Given the description of an element on the screen output the (x, y) to click on. 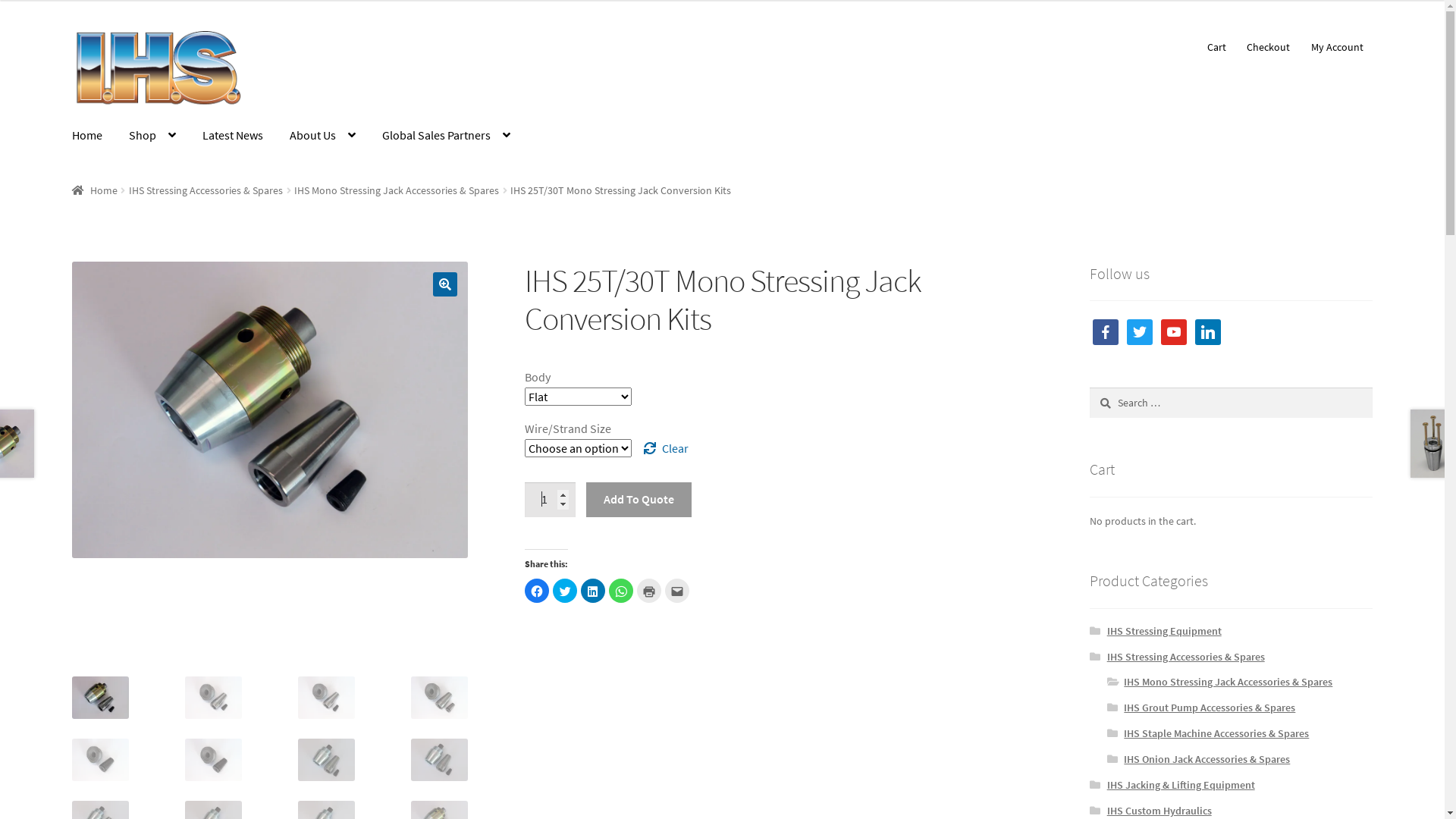
Click to print (Opens in new window) Element type: text (649, 590)
IHS Stressing Equipment Element type: text (1164, 630)
Click to email this to a friend (Opens in new window) Element type: text (677, 590)
My Account Element type: text (1336, 46)
Home Element type: text (94, 190)
Add To Quote Element type: text (638, 499)
Search Element type: text (1088, 386)
About Us Element type: text (322, 135)
IHS Onion Jack Accessories & Spares Element type: text (1206, 758)
Checkout Element type: text (1268, 46)
IHS Custom Hydraulics Element type: text (1159, 810)
Click to share on Facebook (Opens in new window) Element type: text (536, 590)
Clear Element type: text (666, 448)
Click to share on Twitter (Opens in new window) Element type: text (564, 590)
IHS Mono Stressing Jack Accessories & Spares Element type: text (1227, 681)
Qty Element type: hover (550, 499)
Cart Element type: text (1216, 46)
IHS Stressing Accessories & Spares Element type: text (1185, 656)
IHS-MJ-CK-L05 Element type: hover (269, 409)
twitter Element type: text (1139, 331)
IHS Mono Stressing Jack Accessories & Spares Element type: text (396, 190)
youtube Element type: text (1173, 331)
Click to share on WhatsApp (Opens in new window) Element type: text (620, 590)
IHS Staple Machine Accessories & Spares Element type: text (1215, 733)
Home Element type: text (86, 135)
Global Sales Partners Element type: text (446, 135)
Click to share on LinkedIn (Opens in new window) Element type: text (592, 590)
IHS Jacking & Lifting Equipment Element type: text (1181, 784)
IHS Grout Pump Accessories & Spares Element type: text (1209, 707)
IHS Stressing Accessories & Spares Element type: text (205, 190)
facebook Element type: text (1105, 331)
Latest News Element type: text (232, 135)
Shop Element type: text (152, 135)
linkedin Element type: text (1207, 331)
